Given the description of an element on the screen output the (x, y) to click on. 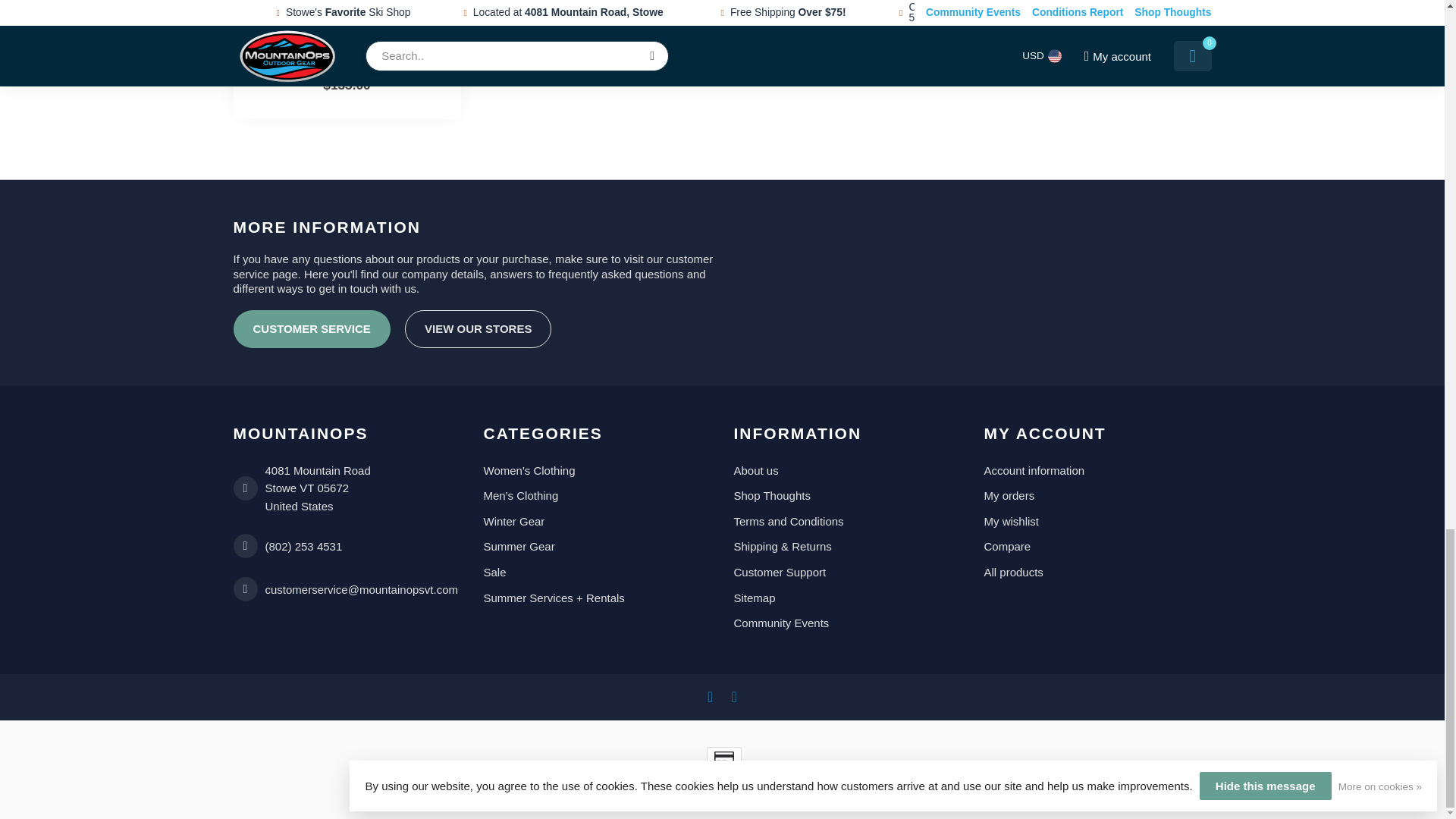
About us (846, 470)
Howler Brothers Howler Brothers Voltage Quilted Vest (346, 8)
Customer Support (846, 572)
Howler Brothers Howler Brothers Voltage Quilted Vest (346, 52)
Sitemap (846, 597)
Shop Thoughts  (846, 495)
Terms and Conditions  (846, 521)
